Given the description of an element on the screen output the (x, y) to click on. 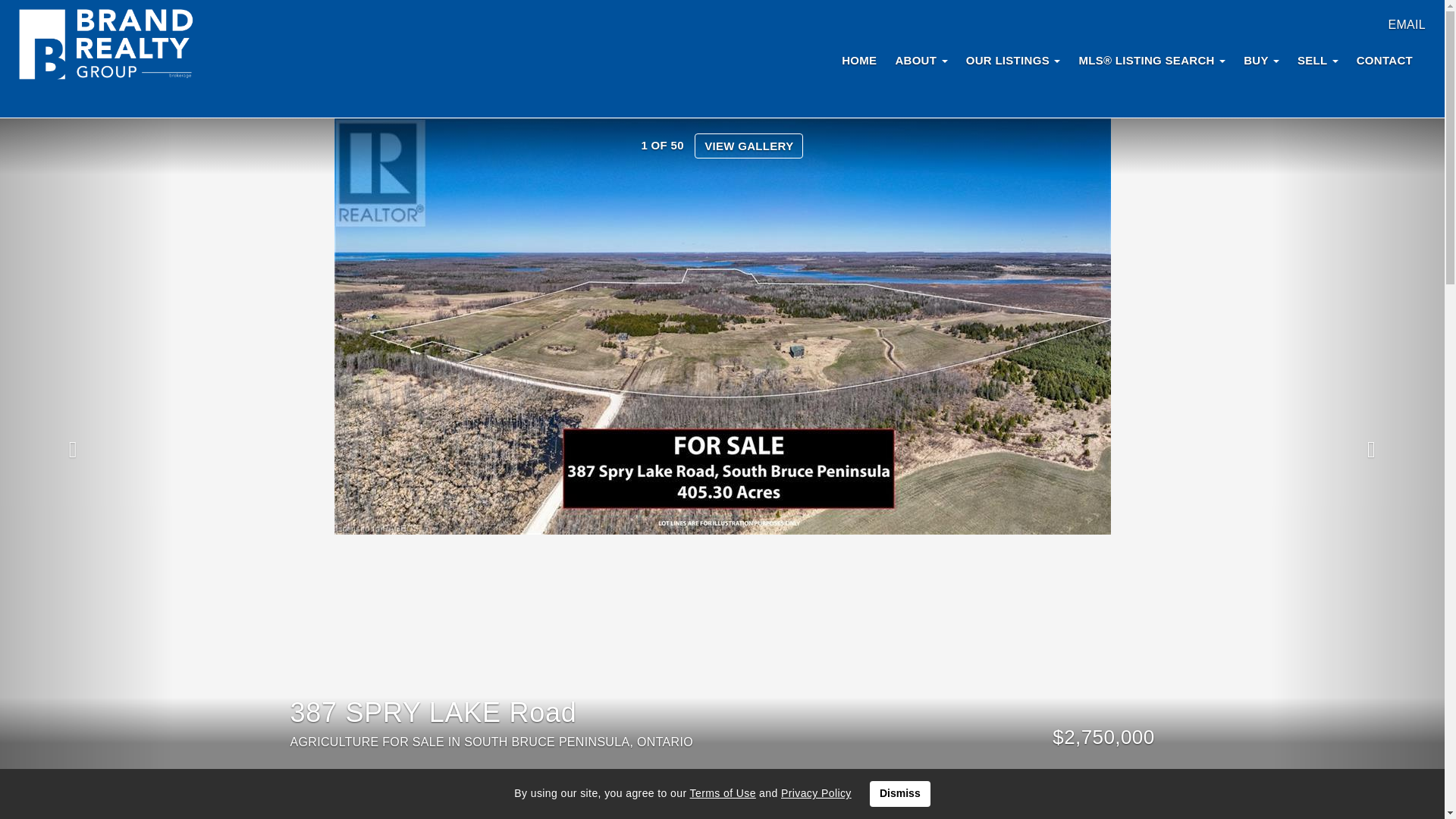
wiarton real estate (105, 45)
EMAIL (1406, 24)
VIEW GALLERY (748, 145)
OUR LISTINGS (1013, 59)
HOME (858, 59)
ABOUT (920, 59)
CONTACT (1385, 59)
BUY (1261, 59)
SELL (1318, 59)
